Given the description of an element on the screen output the (x, y) to click on. 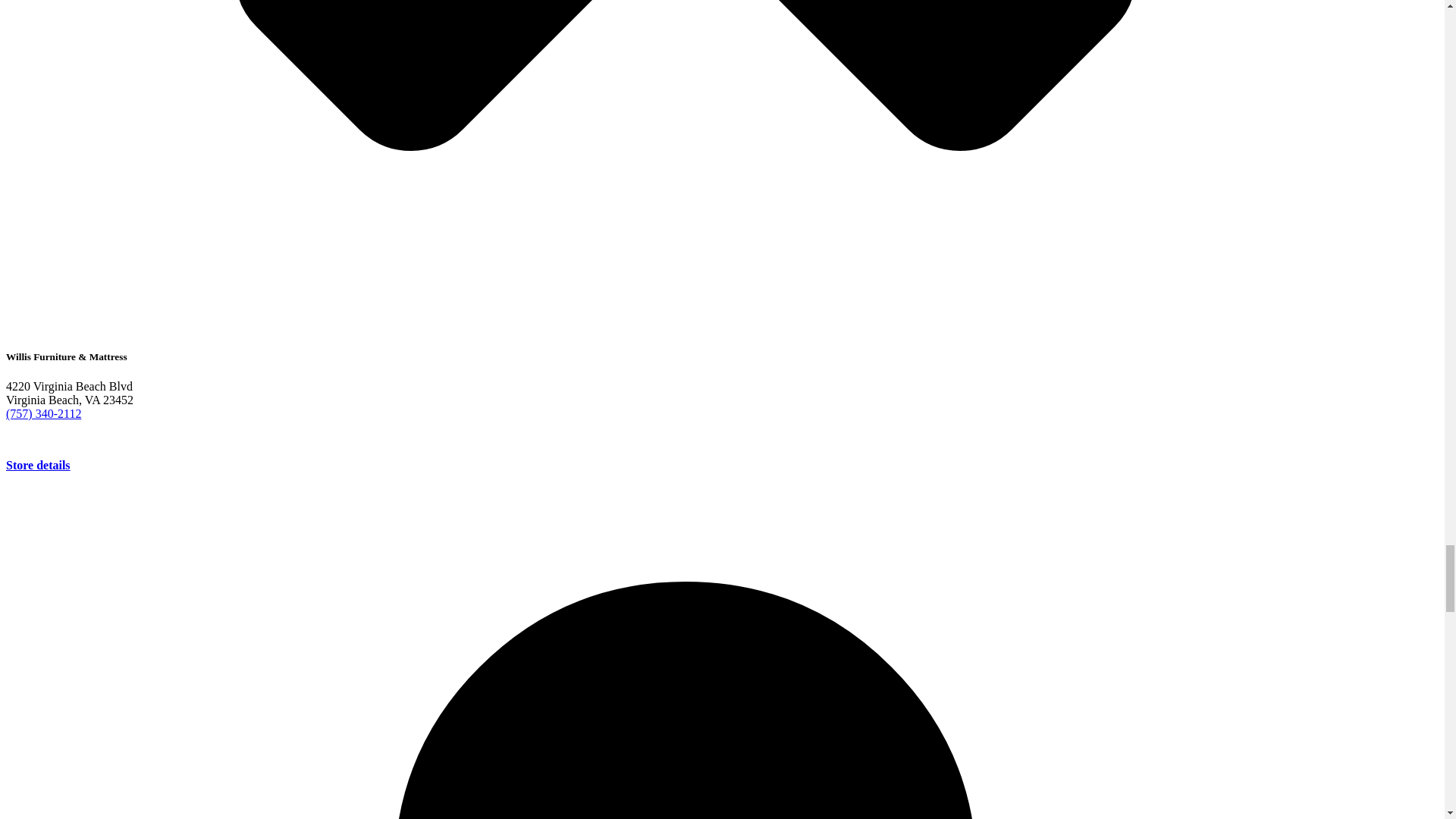
Store details (37, 464)
